Given the description of an element on the screen output the (x, y) to click on. 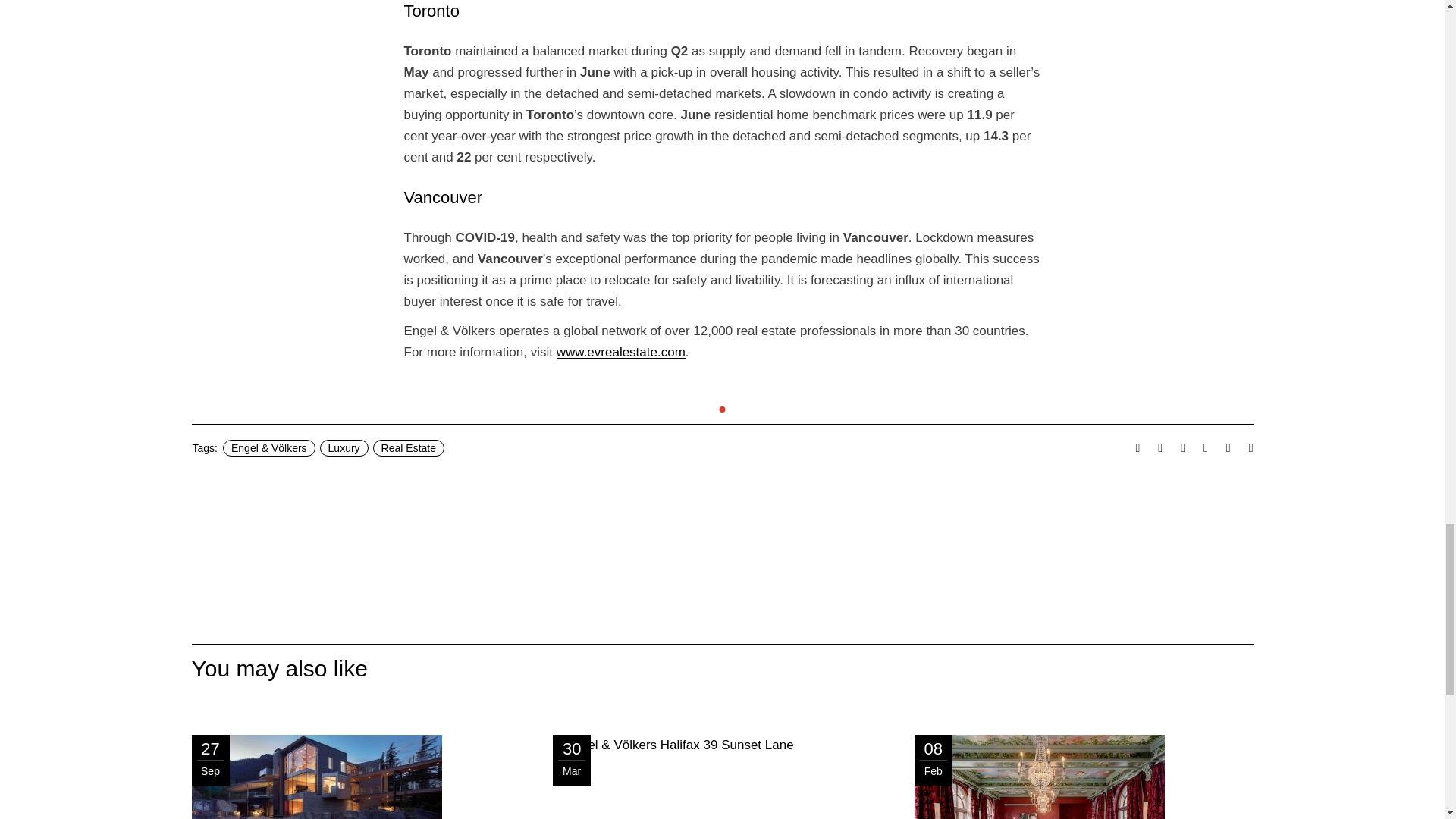
Real Estate (408, 447)
www.evrealestate.com (620, 351)
Luxury (344, 447)
